Given the description of an element on the screen output the (x, y) to click on. 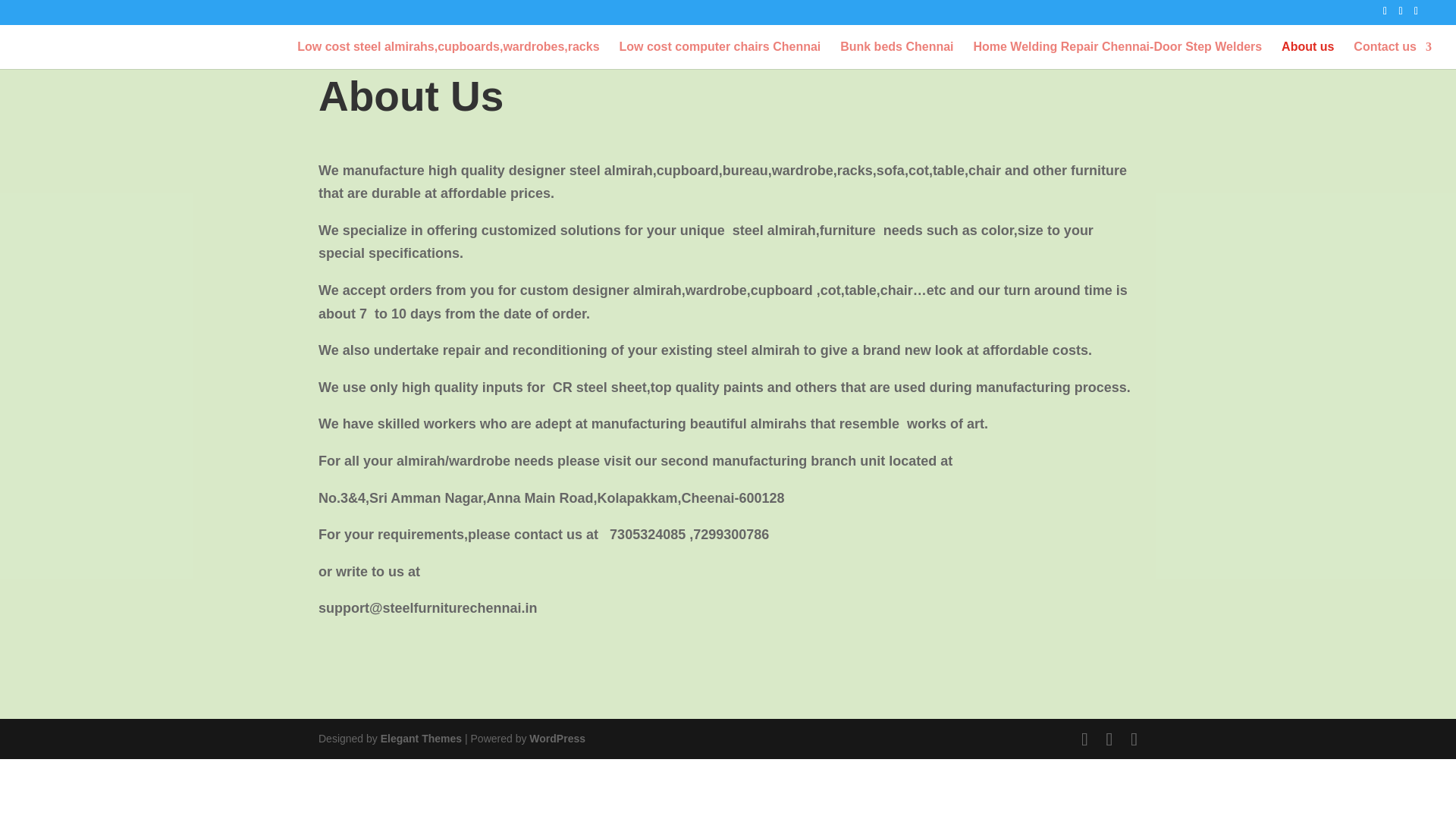
Elegant Themes (420, 738)
Home Welding Repair Chennai-Door Step Welders (1117, 53)
Bunk beds Chennai (896, 53)
About us (1307, 53)
WordPress (557, 738)
Contact us (1392, 53)
Premium WordPress Themes (420, 738)
Low cost computer chairs Chennai (719, 53)
Low cost steel almirahs,cupboards,wardrobes,racks (447, 53)
